Given the description of an element on the screen output the (x, y) to click on. 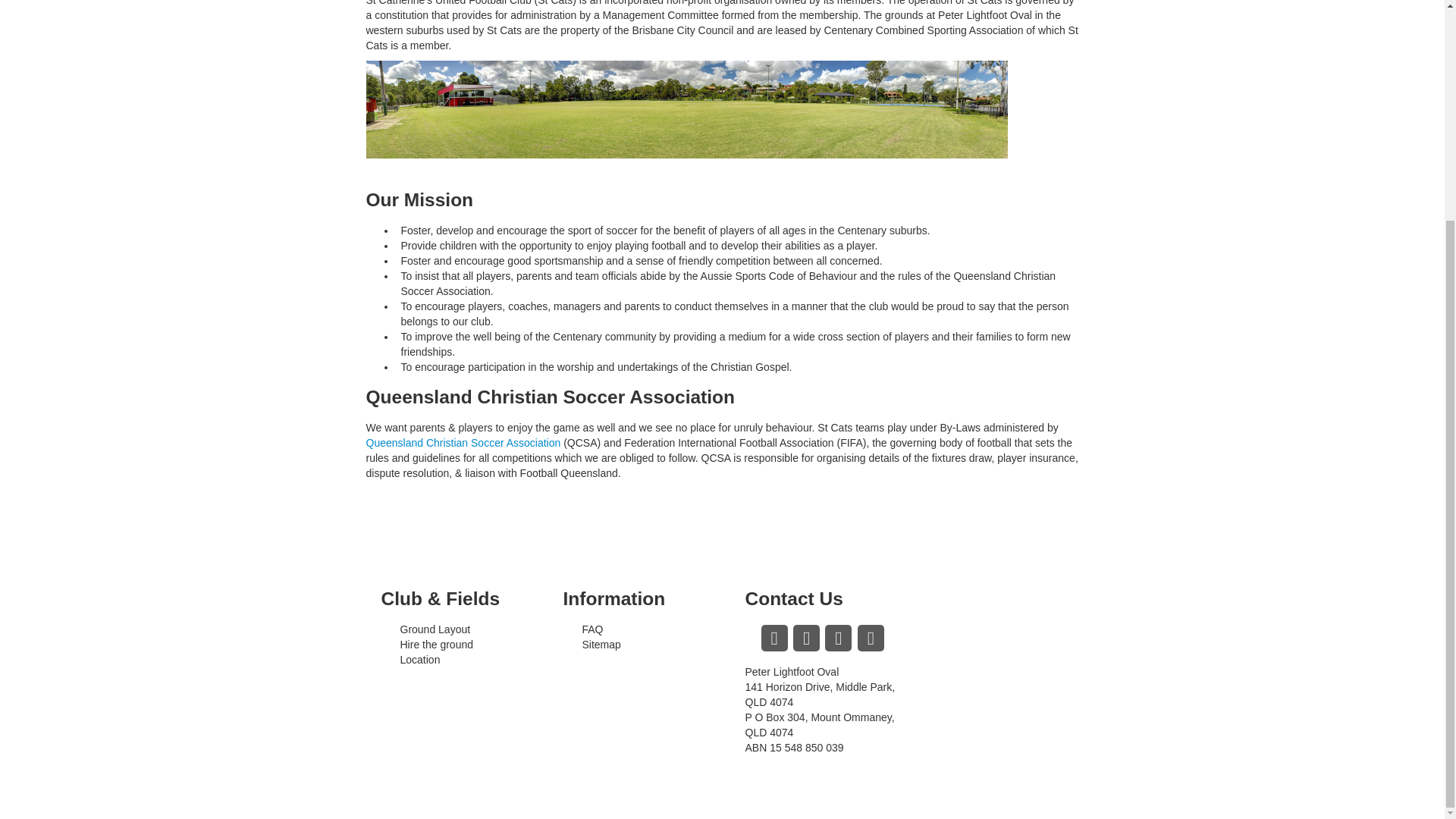
Queensland Christian Soccer Association (462, 442)
Sitemap (601, 644)
Ground Layout (435, 629)
Hire the ground (437, 644)
Location (420, 659)
Queensland Christian Soccer Association (462, 442)
FAQ (593, 629)
